Given the description of an element on the screen output the (x, y) to click on. 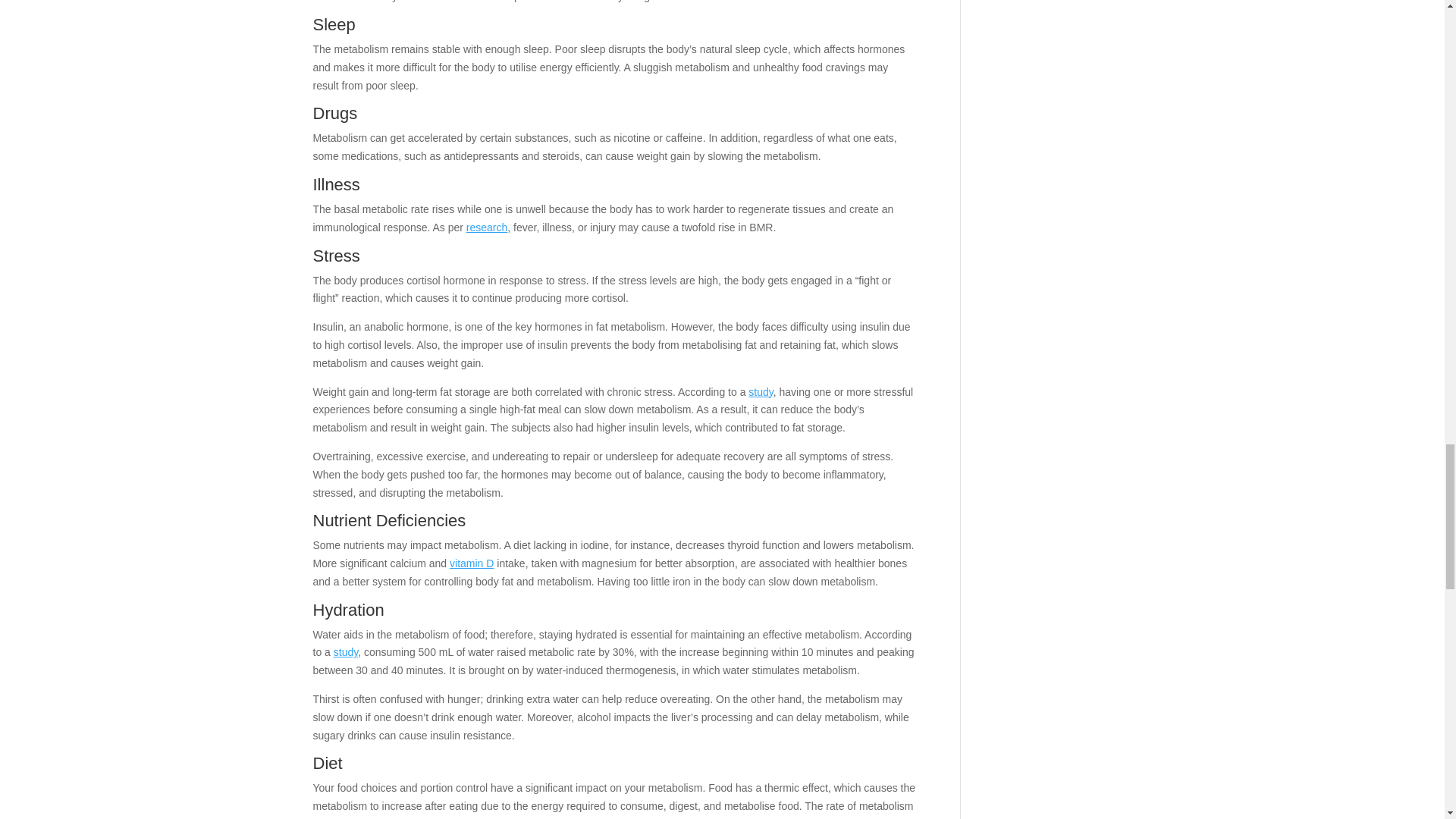
research (485, 227)
vitamin D (471, 563)
study (345, 652)
study (760, 391)
